Given the description of an element on the screen output the (x, y) to click on. 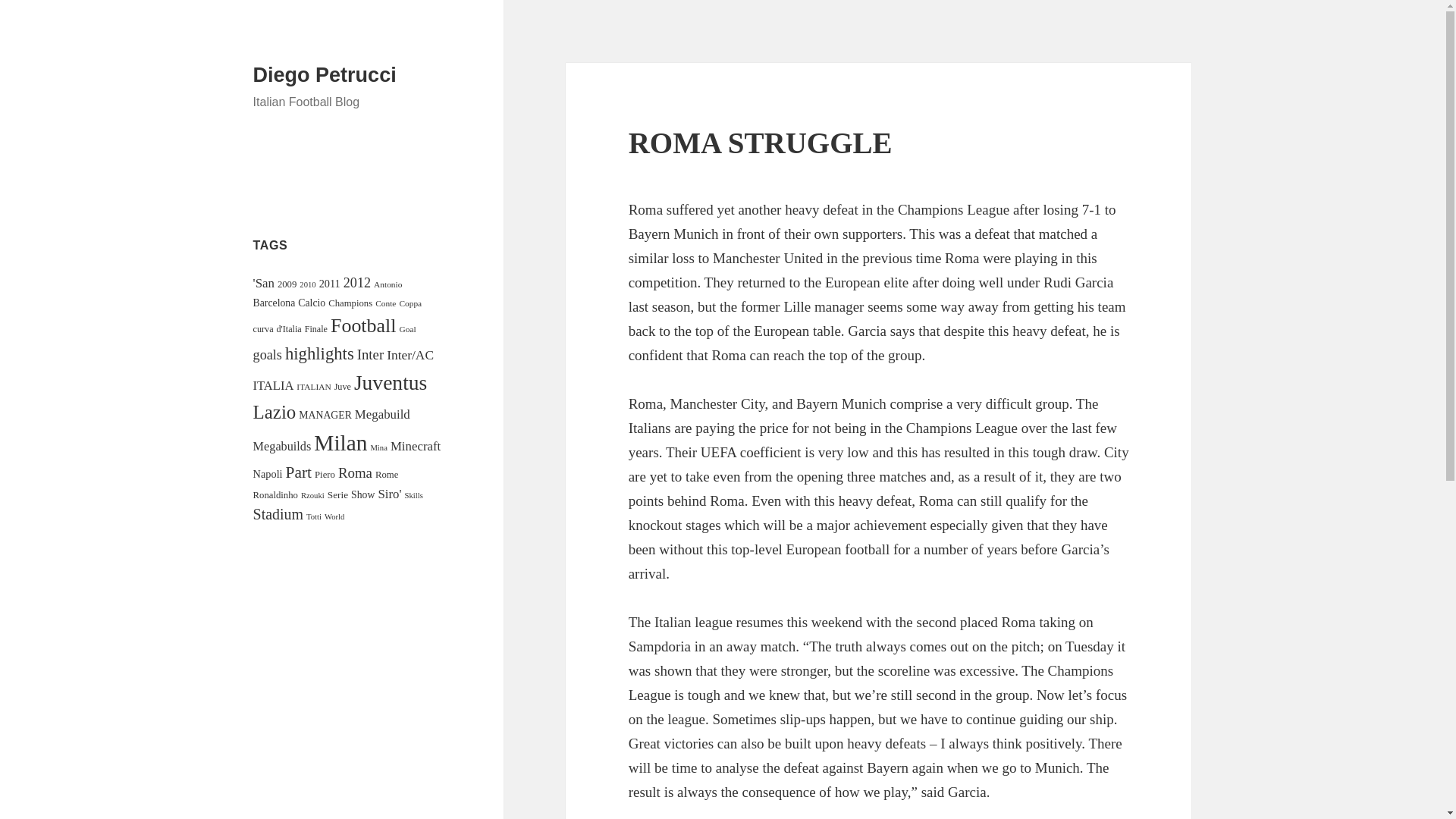
Inter (370, 354)
Finale (315, 328)
Coppa (410, 302)
Megabuilds (282, 446)
Champions (350, 303)
'San (264, 283)
MANAGER (325, 414)
2010 (307, 284)
highlights (319, 353)
Part (298, 472)
